Given the description of an element on the screen output the (x, y) to click on. 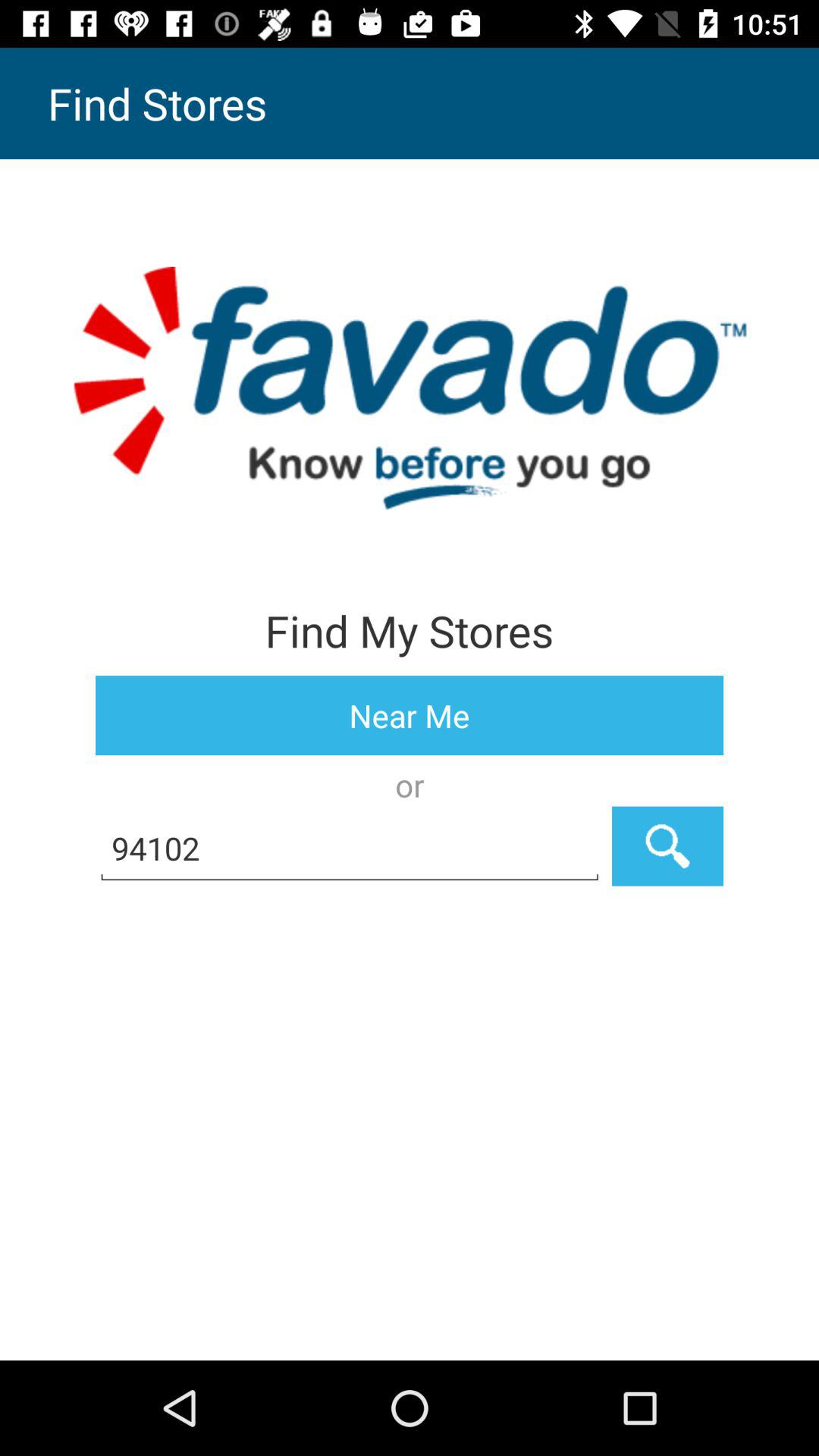
press item below find my stores icon (409, 715)
